Given the description of an element on the screen output the (x, y) to click on. 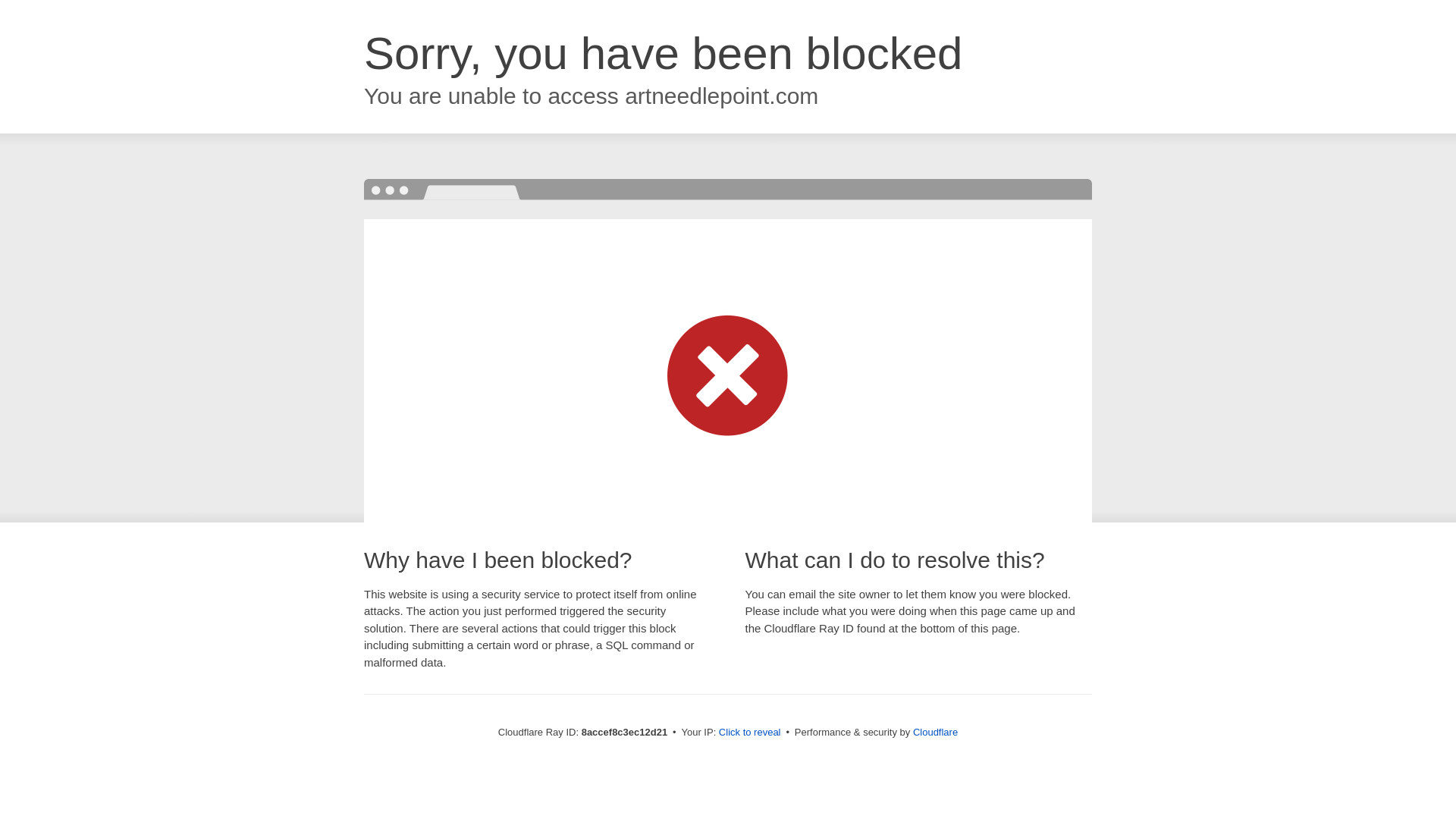
Click to reveal (749, 732)
Cloudflare (935, 731)
